Given the description of an element on the screen output the (x, y) to click on. 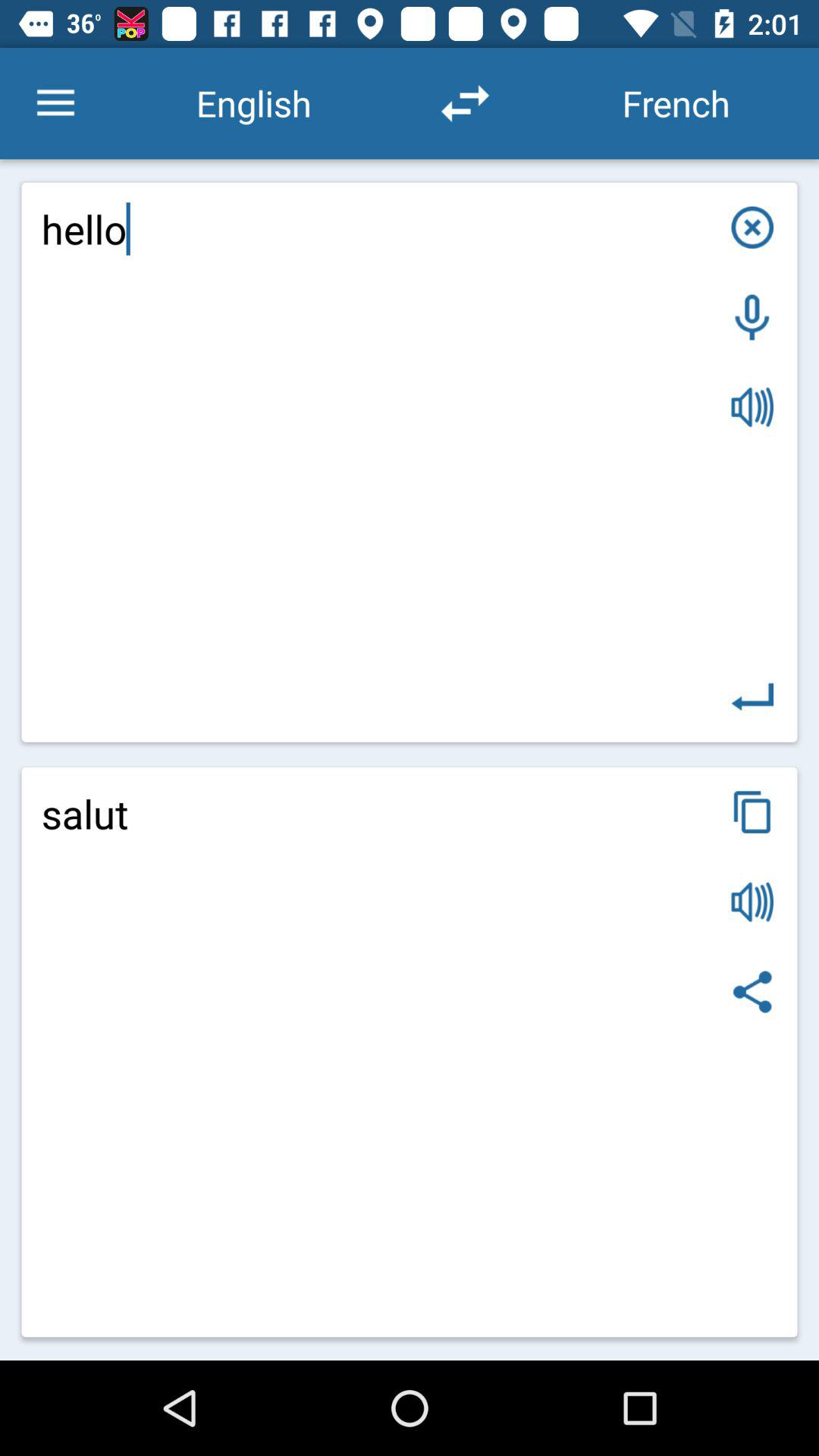
turn off icon below the hello item (752, 812)
